Given the description of an element on the screen output the (x, y) to click on. 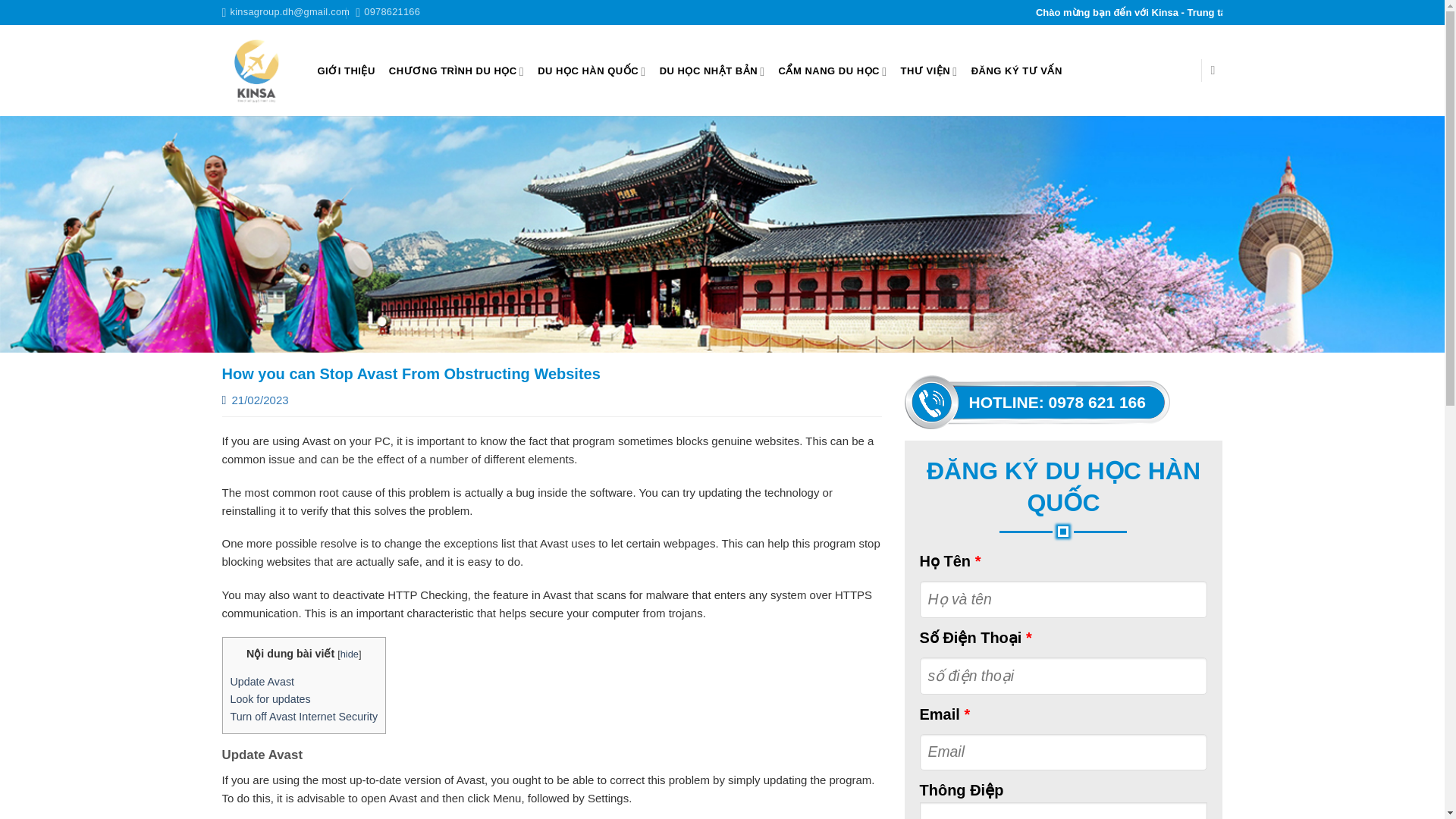
Turn off Avast Internet Security (304, 716)
Look for updates (270, 698)
hide (349, 654)
Update Avast (262, 681)
0978621166 (387, 11)
